Given the description of an element on the screen output the (x, y) to click on. 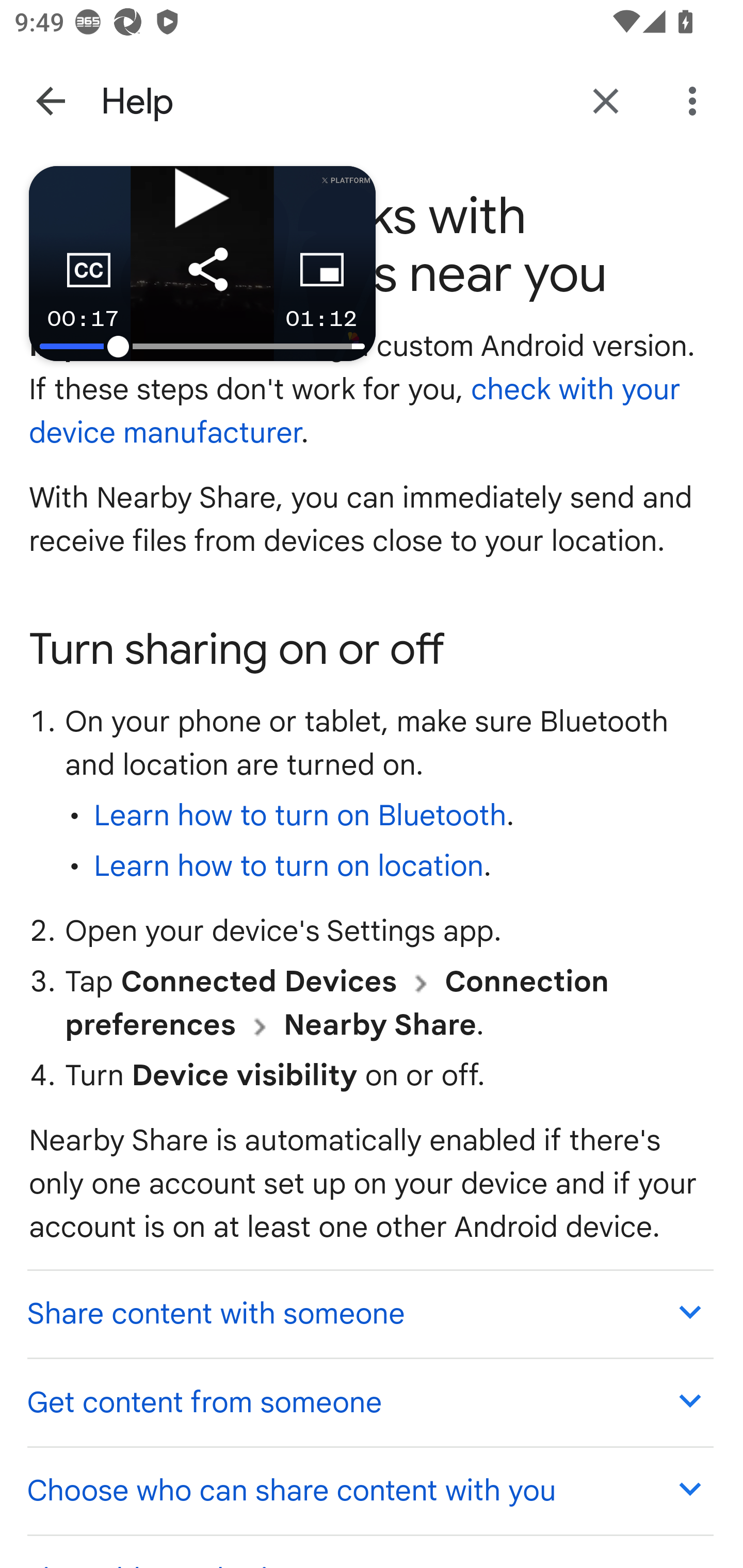
Navigate up (50, 101)
Return to Google Play services (605, 101)
More options (696, 101)
check with your device manufacturer (355, 411)
Learn how to turn on Bluetooth (300, 816)
Learn how to turn on location (288, 866)
Share content with someone (369, 1311)
Get content from someone (369, 1402)
Choose who can share content with you (369, 1490)
